Given the description of an element on the screen output the (x, y) to click on. 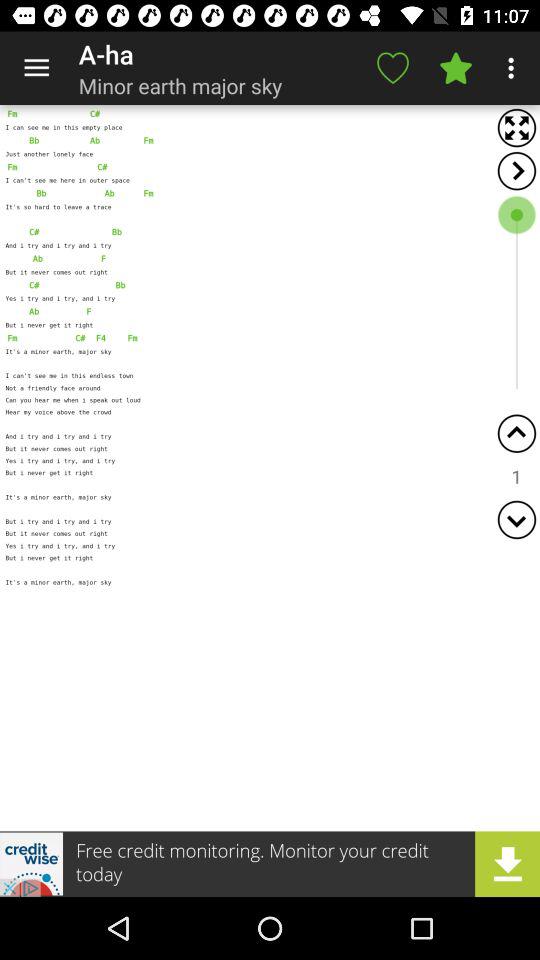
open advertisement (270, 864)
